Given the description of an element on the screen output the (x, y) to click on. 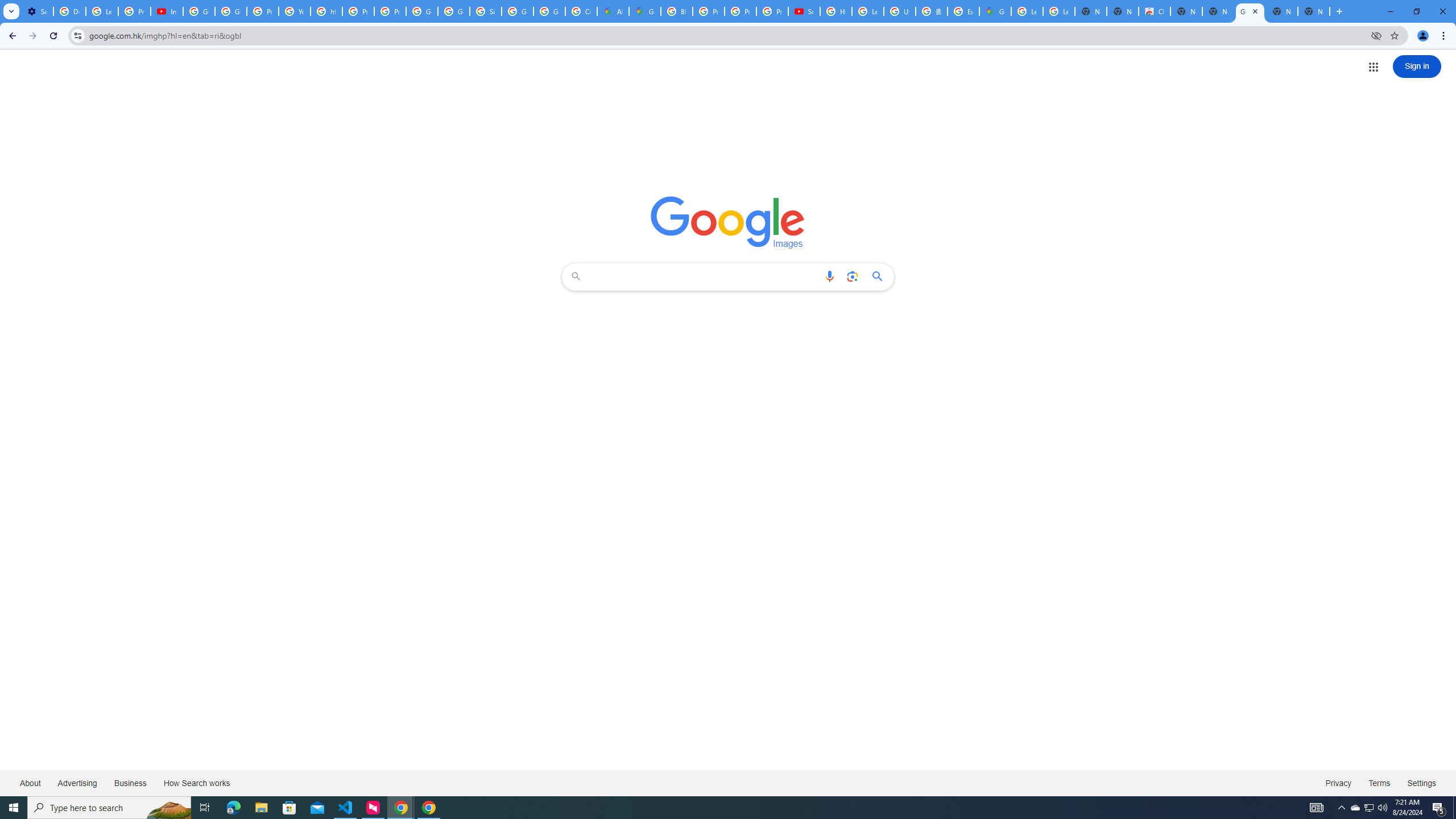
Privacy Help Center - Policies Help (740, 11)
Privacy Help Center - Policies Help (708, 11)
Google Maps (644, 11)
Learn how to find your photos - Google Photos Help (101, 11)
Blogger Policies and Guidelines - Transparency Center (676, 11)
